Given the description of an element on the screen output the (x, y) to click on. 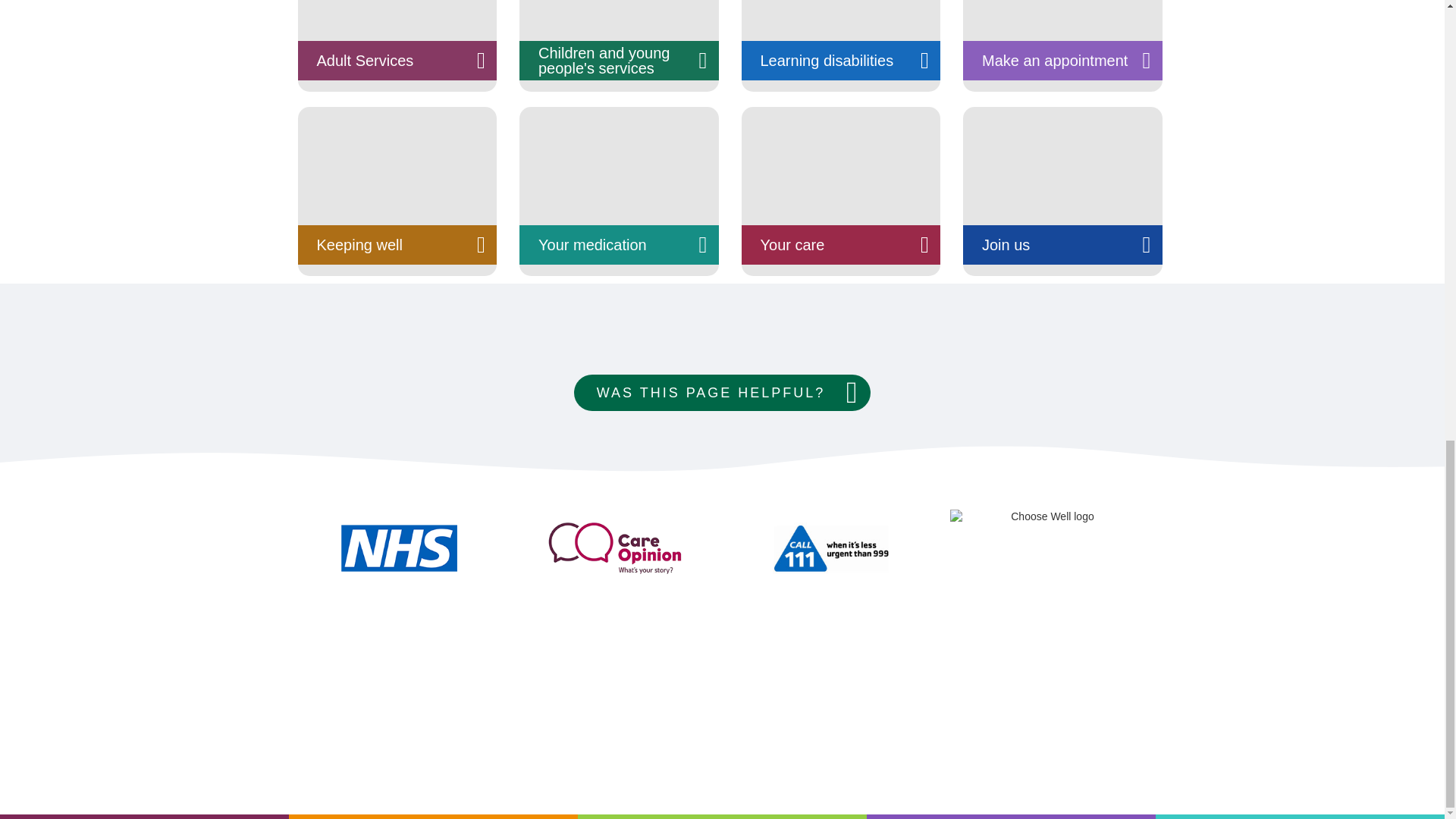
Care Opinion (613, 548)
National Health Service (398, 548)
NHS 111 (830, 548)
Website Feedback (721, 392)
